Given the description of an element on the screen output the (x, y) to click on. 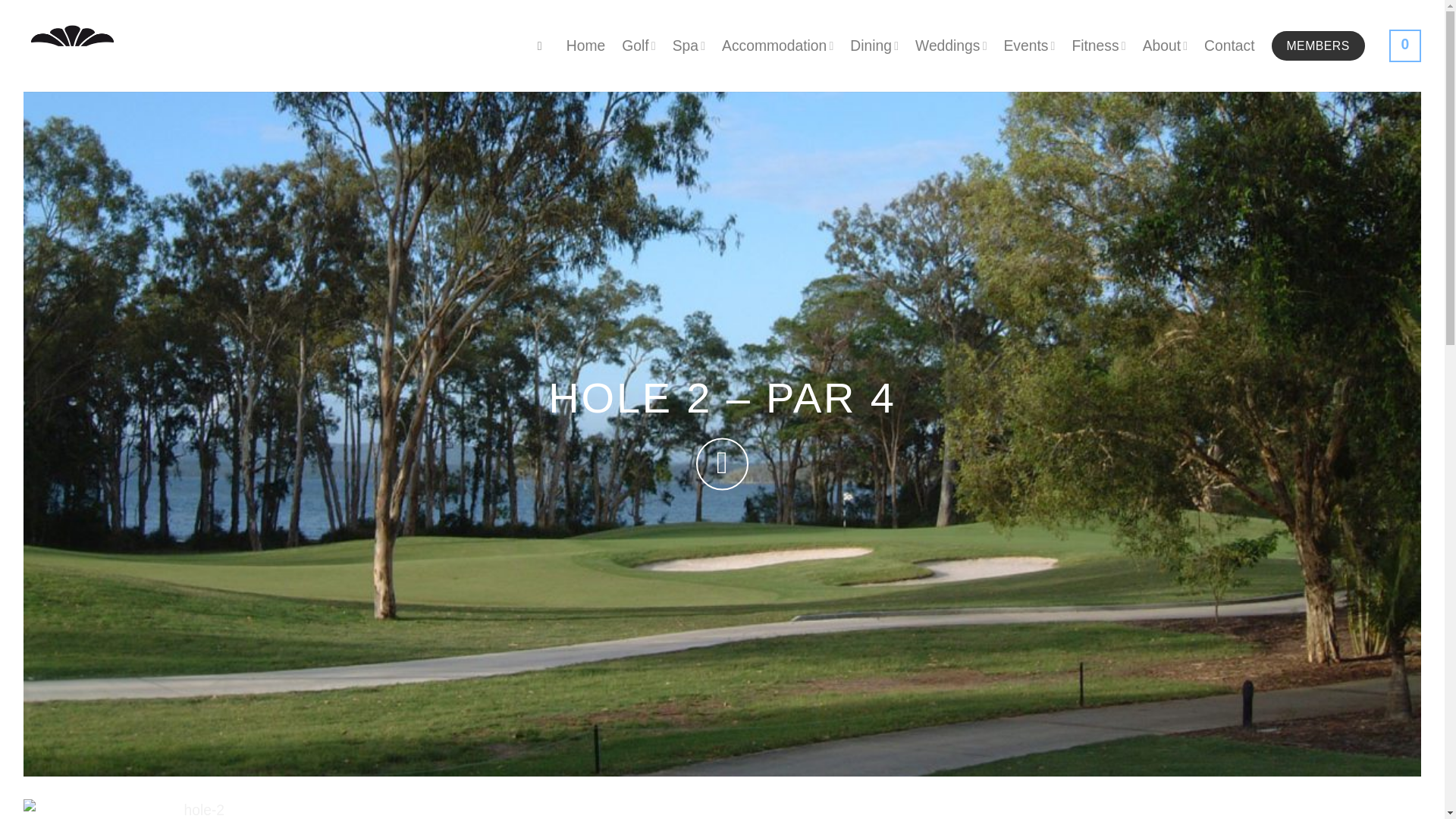
Spa (688, 45)
Noosa Springs Golf and Spa (71, 45)
Events (1028, 45)
Dining (874, 45)
Accommodation (777, 45)
Golf (638, 45)
Home (585, 45)
Weddings (951, 45)
